Given the description of an element on the screen output the (x, y) to click on. 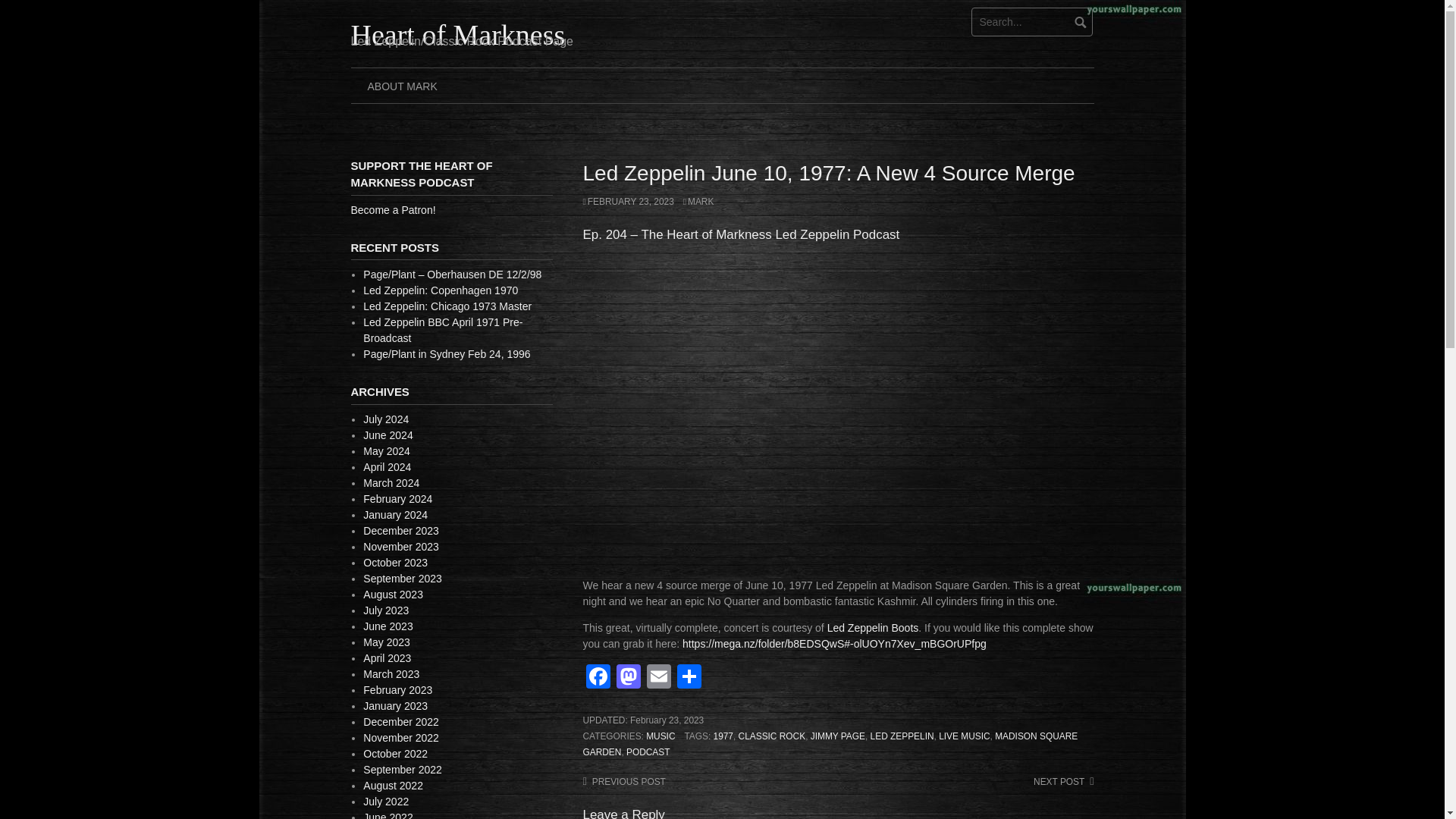
Mastodon (627, 678)
Facebook (597, 678)
Led Zeppelin BBC April 1971 Pre-Broadcast (442, 329)
PREVIOUS POST (623, 781)
April 2024 (386, 467)
MADISON SQUARE GARDEN (829, 744)
February 23, 2023 (666, 719)
March 2024 (390, 482)
Heart of Markness (457, 34)
Share (687, 678)
Led Zeppelin: Chicago 1973 Master (446, 306)
LIVE MUSIC (964, 736)
Search for: (1031, 21)
Led Zeppelin Boots (872, 627)
Email (657, 678)
